Given the description of an element on the screen output the (x, y) to click on. 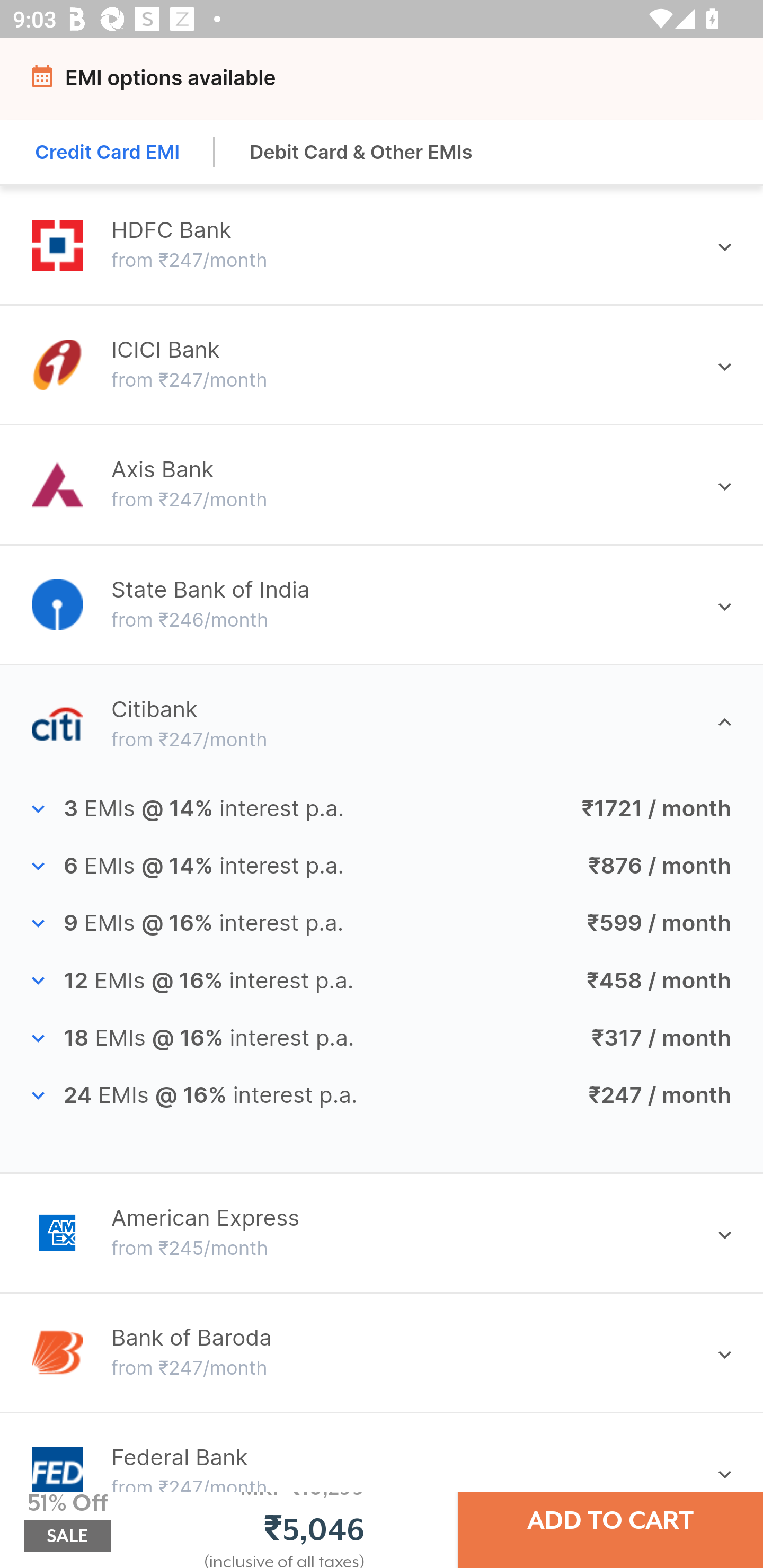
Navigate up (44, 82)
Credit Card EMI (107, 152)
Debit Card & Other EMIs (361, 152)
HDFC Bank HDFC Bank from ₹247/month (381, 244)
ICICI Bank ICICI Bank from ₹247/month (381, 364)
Axis Bank Axis Bank from ₹247/month (381, 484)
Citibank Citibank from ₹247/month (381, 723)
3 EMIs @ 14% interest p.a. ₹1721 / month (381, 808)
6 EMIs @ 14% interest p.a. ₹876 / month (381, 865)
9 EMIs @ 16% interest p.a. ₹599 / month (381, 924)
12 EMIs @ 16% interest p.a. ₹458 / month (381, 980)
18 EMIs @ 16% interest p.a. ₹317 / month (381, 1038)
24 EMIs @ 16% interest p.a. ₹247 / month (381, 1094)
American Express American Express from ₹245/month (381, 1232)
Bank of Baroda Bank of Baroda from ₹247/month (381, 1352)
ADD TO CART (610, 1520)
